Given the description of an element on the screen output the (x, y) to click on. 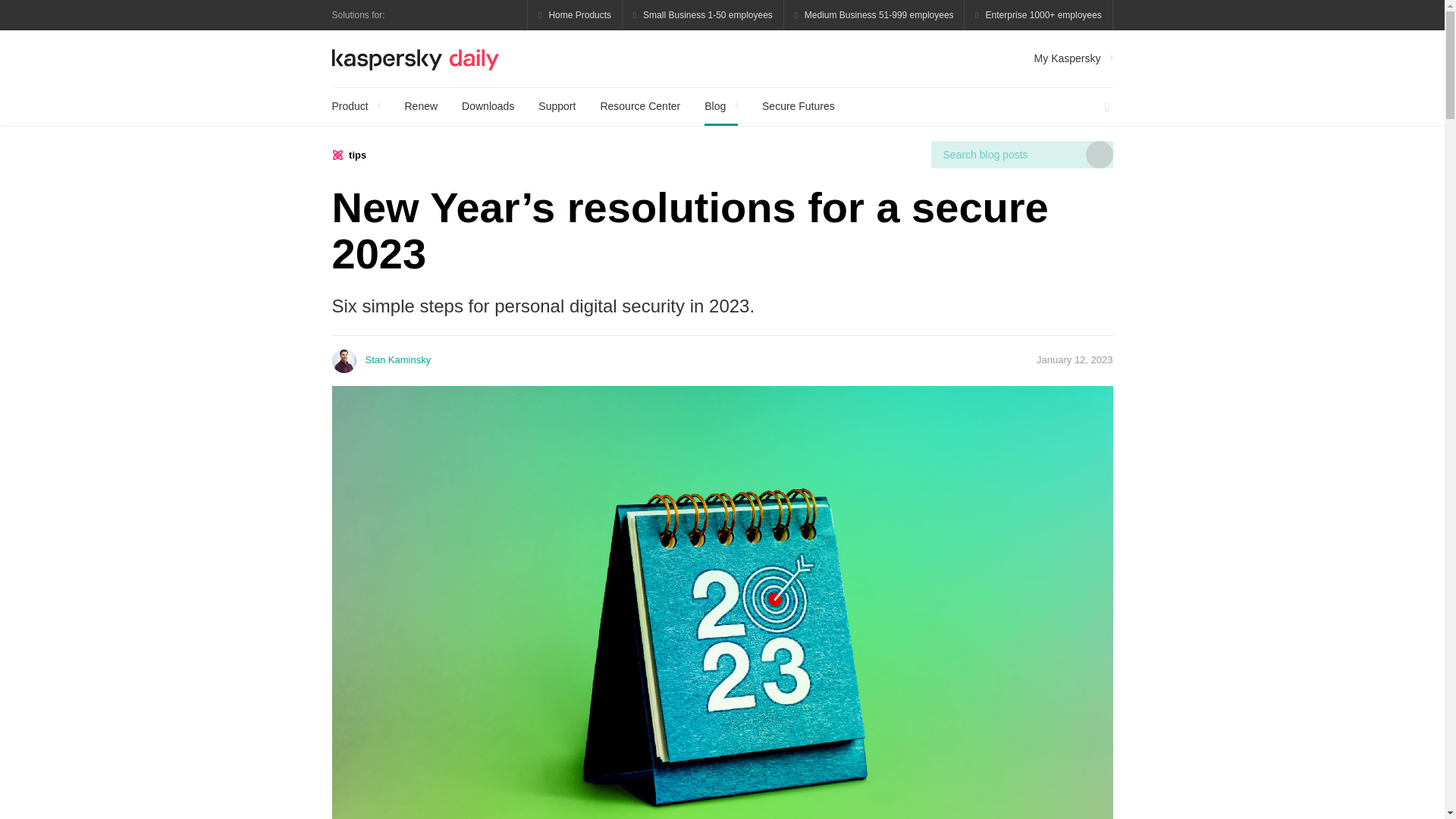
My Kaspersky (1073, 58)
font-icons icon-small-business (703, 15)
Medium Business 51-999 employees (874, 15)
Support (556, 106)
Kaspersky official blog (415, 58)
Resource Center (639, 106)
Kaspersky official blog (415, 58)
Small Business 1-50 employees (703, 15)
Downloads (487, 106)
Home Products (575, 15)
Secure Futures (797, 106)
Product (355, 106)
